Given the description of an element on the screen output the (x, y) to click on. 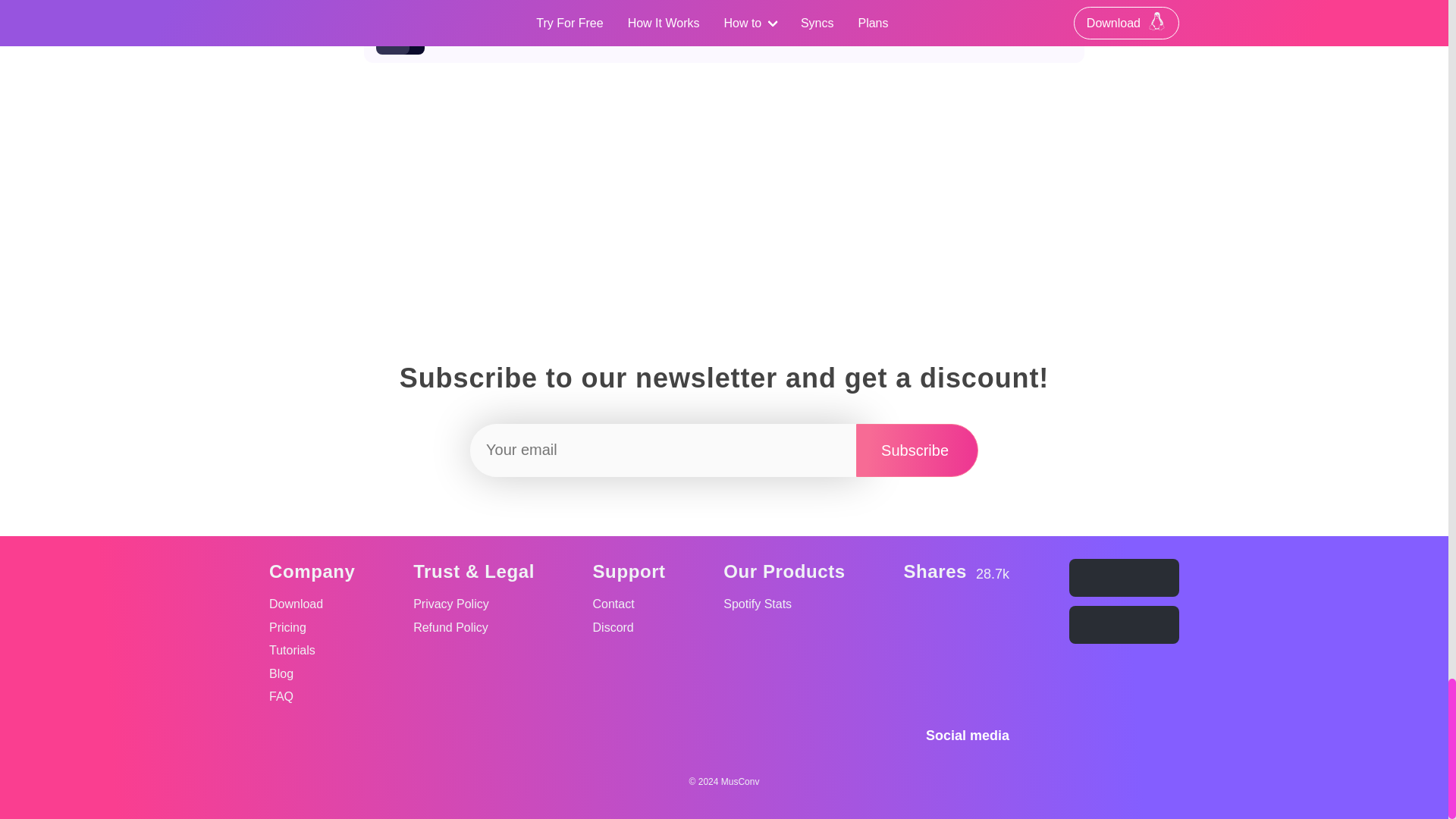
Share on Pinterest (919, 663)
Share on Twitter (993, 625)
Subscribe (917, 450)
Share on Email (724, 4)
Share on Reddit (919, 625)
Share on Facebook (957, 663)
Share on LinkedIn (957, 625)
